Given the description of an element on the screen output the (x, y) to click on. 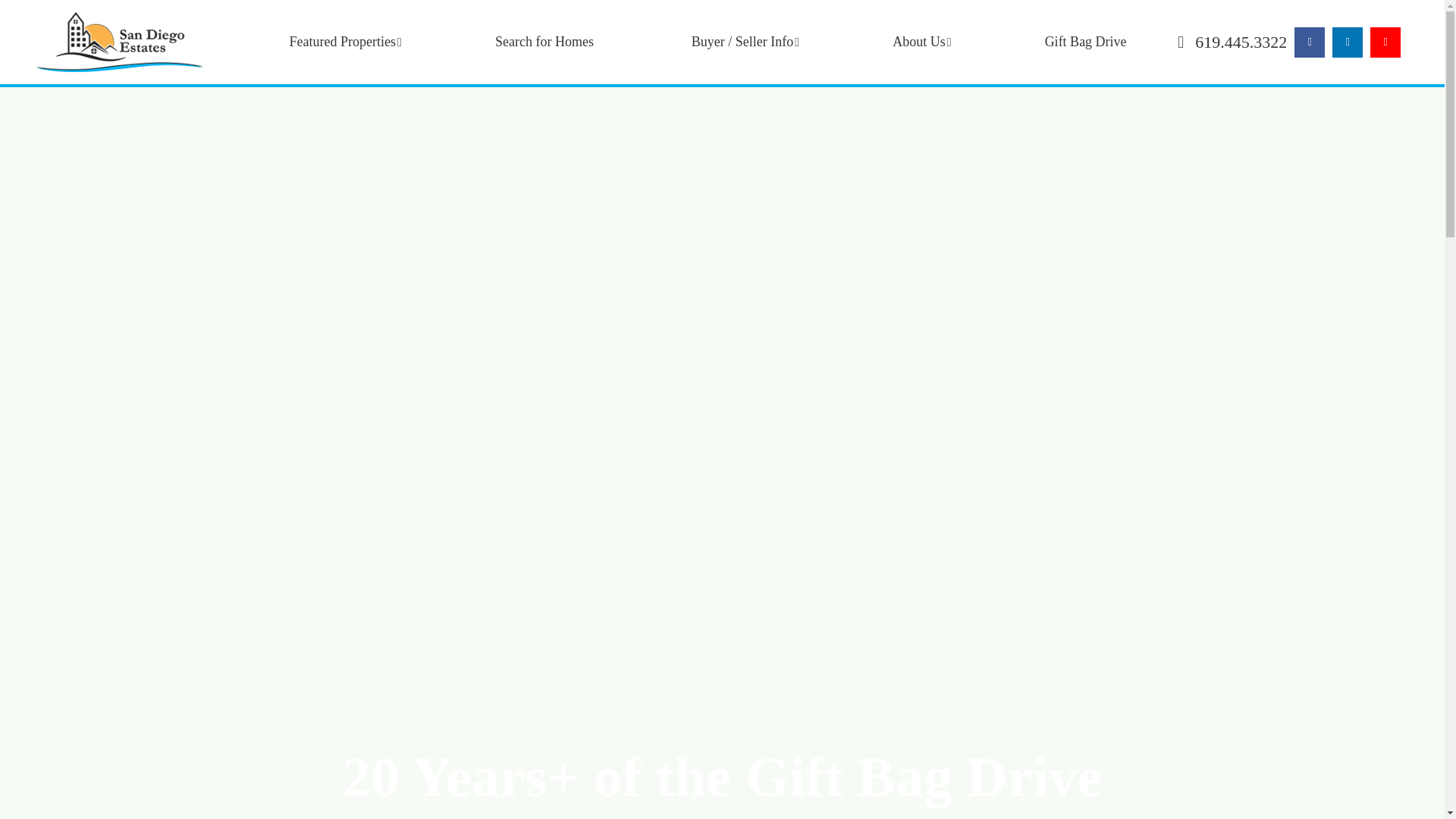
Gift Bag Drive (1085, 41)
619.445.3322 (1232, 42)
Featured Properties (343, 41)
About Us (919, 41)
Search for Homes (544, 41)
